Given the description of an element on the screen output the (x, y) to click on. 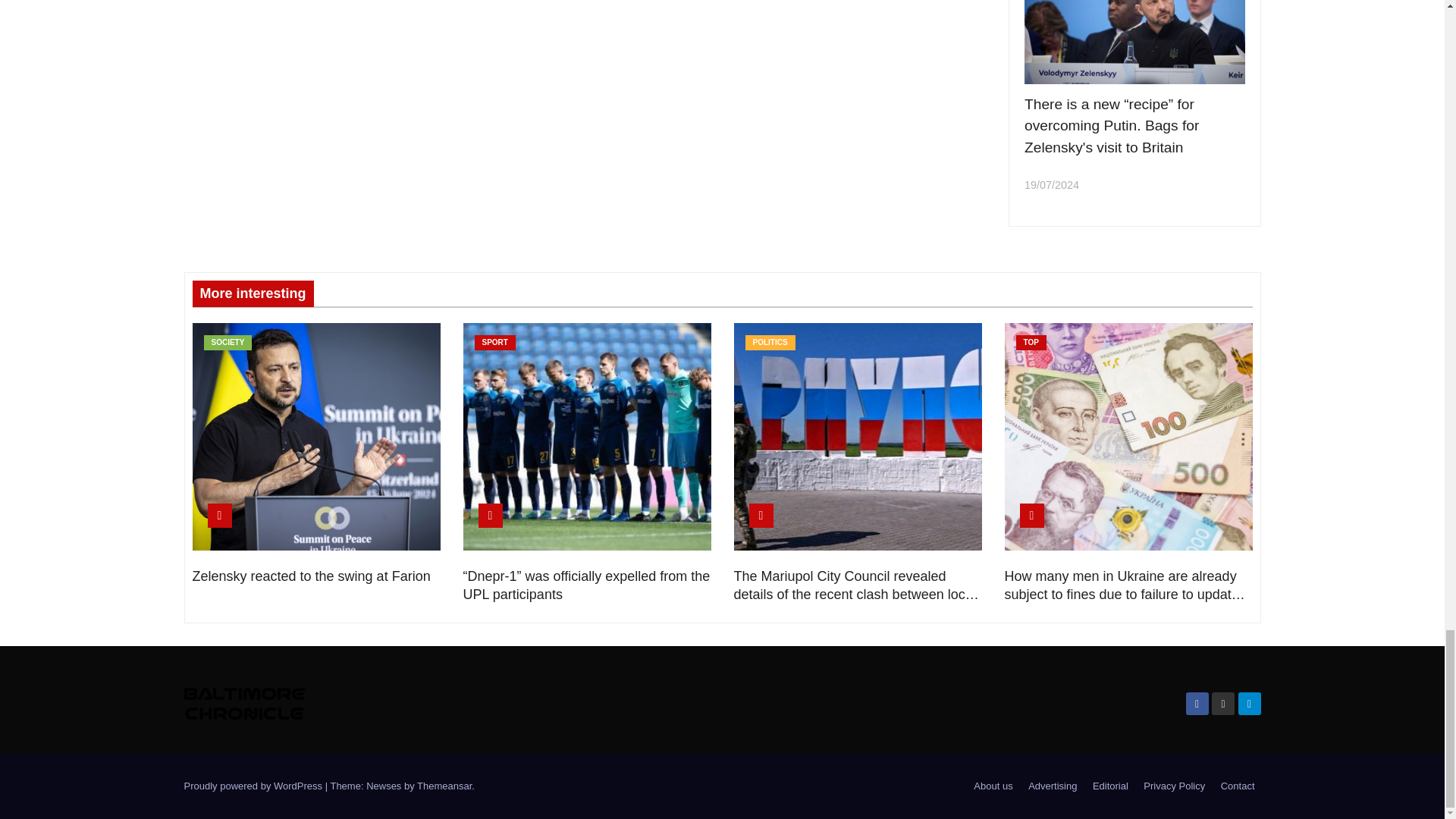
Permalink to: Zelensky reacted to the swing at Farion (311, 575)
